Given the description of an element on the screen output the (x, y) to click on. 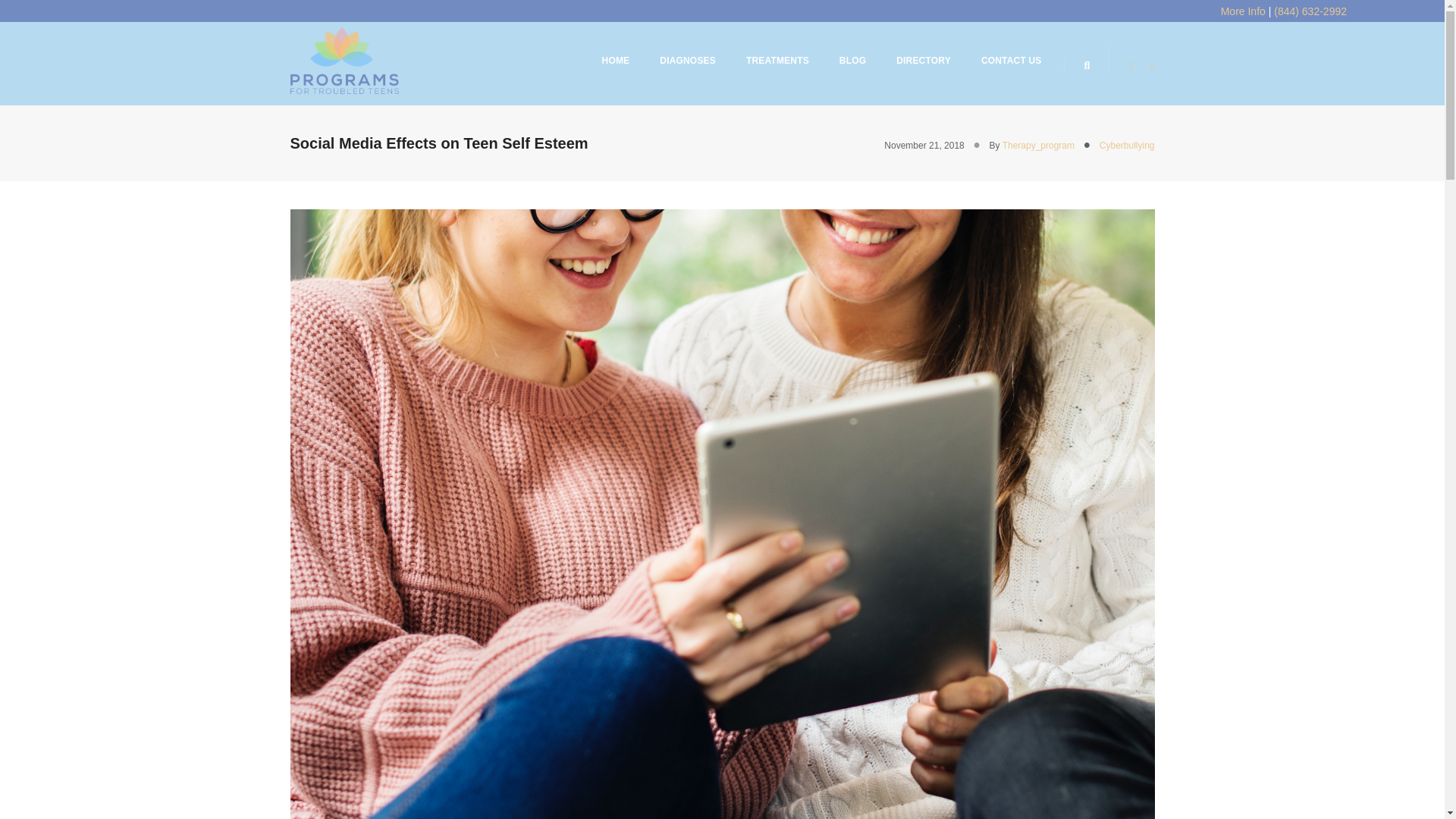
More Info (1243, 10)
BLOG (853, 60)
CONTACT US (1011, 60)
TREATMENTS (777, 60)
Cyberbullying (1126, 144)
DIRECTORY (923, 60)
HOME (616, 60)
Programs for Troubled Teens (343, 60)
DIAGNOSES (687, 60)
